Given the description of an element on the screen output the (x, y) to click on. 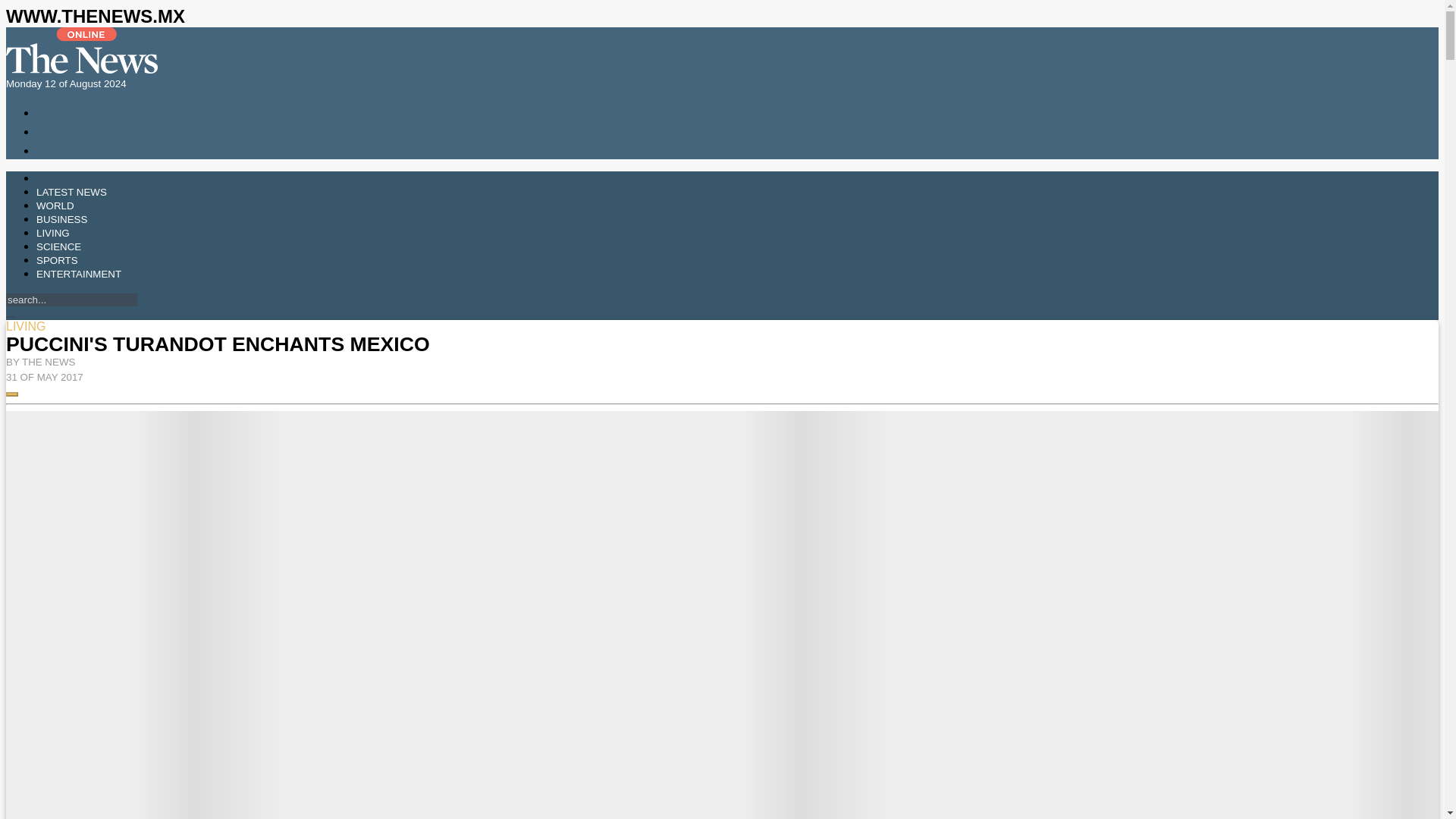
LATEST NEWS (71, 192)
Entertainment (78, 274)
LIVING (52, 233)
ENTERTAINMENT (78, 274)
WORLD (55, 205)
SCIENCE (58, 246)
BUSINESS (61, 219)
Latest News (71, 192)
Science (58, 246)
The News (81, 50)
